Given the description of an element on the screen output the (x, y) to click on. 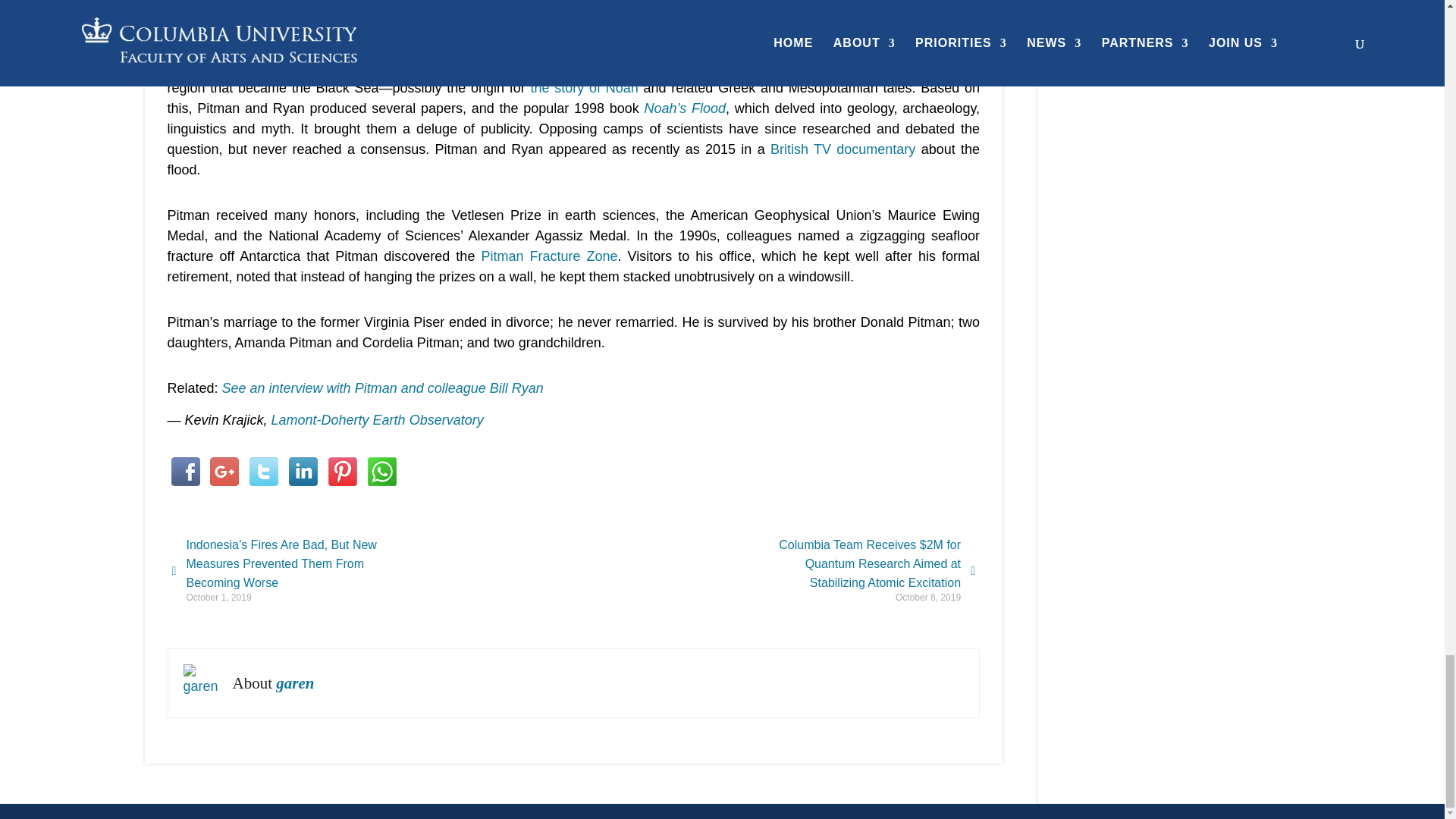
garen (202, 682)
